Given the description of an element on the screen output the (x, y) to click on. 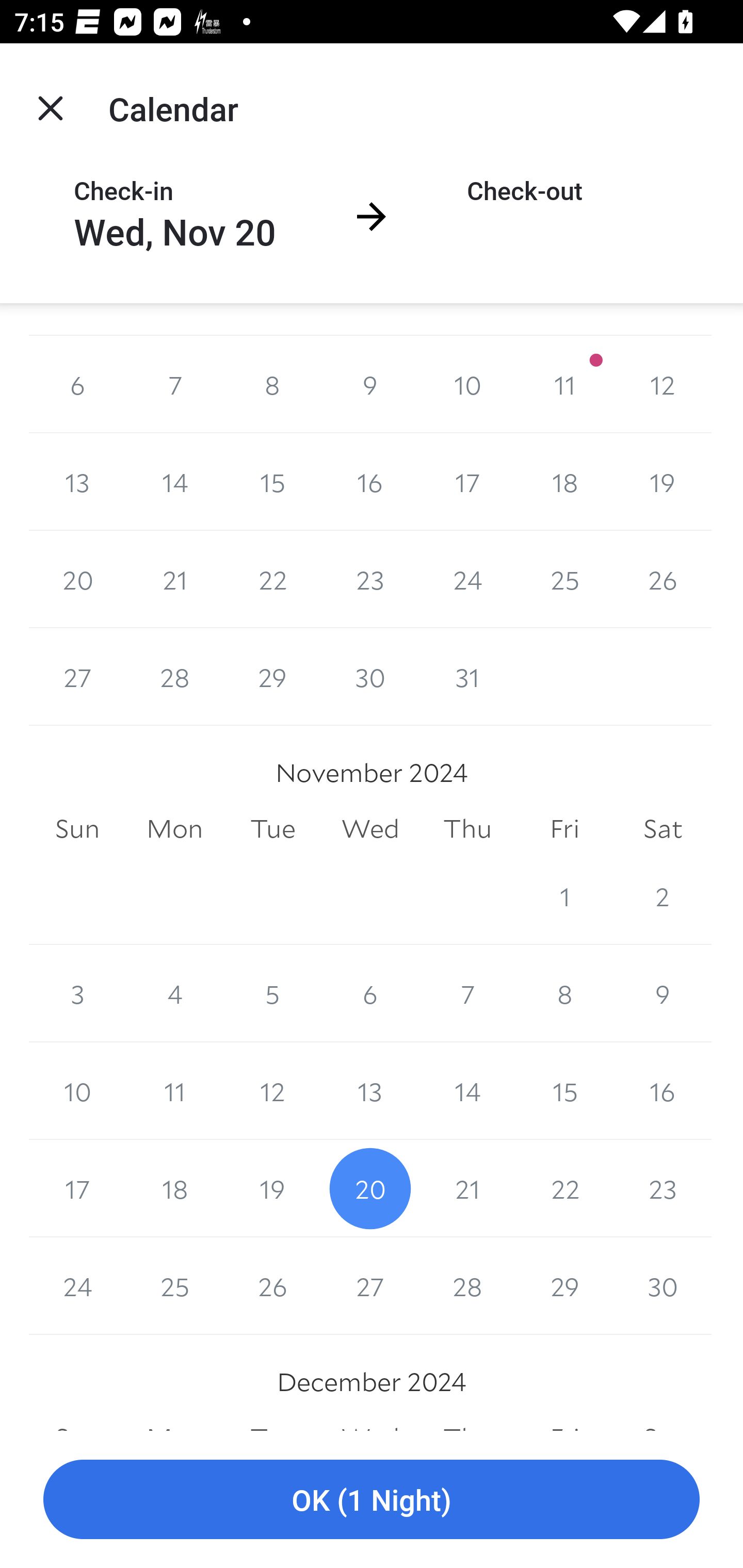
6 6 October 2024 (77, 383)
7 7 October 2024 (174, 383)
8 8 October 2024 (272, 383)
9 9 October 2024 (370, 383)
10 10 October 2024 (467, 383)
11 11 October 2024 (564, 383)
12 12 October 2024 (662, 383)
13 13 October 2024 (77, 480)
14 14 October 2024 (174, 480)
15 15 October 2024 (272, 480)
16 16 October 2024 (370, 480)
17 17 October 2024 (467, 480)
18 18 October 2024 (564, 480)
19 19 October 2024 (662, 480)
20 20 October 2024 (77, 578)
21 21 October 2024 (174, 578)
22 22 October 2024 (272, 578)
23 23 October 2024 (370, 578)
24 24 October 2024 (467, 578)
25 25 October 2024 (564, 578)
26 26 October 2024 (662, 578)
27 27 October 2024 (77, 676)
28 28 October 2024 (174, 676)
29 29 October 2024 (272, 676)
30 30 October 2024 (370, 676)
31 31 October 2024 (467, 676)
Sun (77, 828)
Mon (174, 828)
Tue (272, 828)
Wed (370, 828)
Thu (467, 828)
Fri (564, 828)
Sat (662, 828)
1 1 November 2024 (564, 895)
2 2 November 2024 (662, 895)
3 3 November 2024 (77, 993)
4 4 November 2024 (174, 993)
5 5 November 2024 (272, 993)
6 6 November 2024 (370, 993)
7 7 November 2024 (467, 993)
8 8 November 2024 (564, 993)
9 9 November 2024 (662, 993)
10 10 November 2024 (77, 1090)
11 11 November 2024 (174, 1090)
12 12 November 2024 (272, 1090)
13 13 November 2024 (370, 1090)
14 14 November 2024 (467, 1090)
15 15 November 2024 (564, 1090)
16 16 November 2024 (662, 1090)
